Given the description of an element on the screen output the (x, y) to click on. 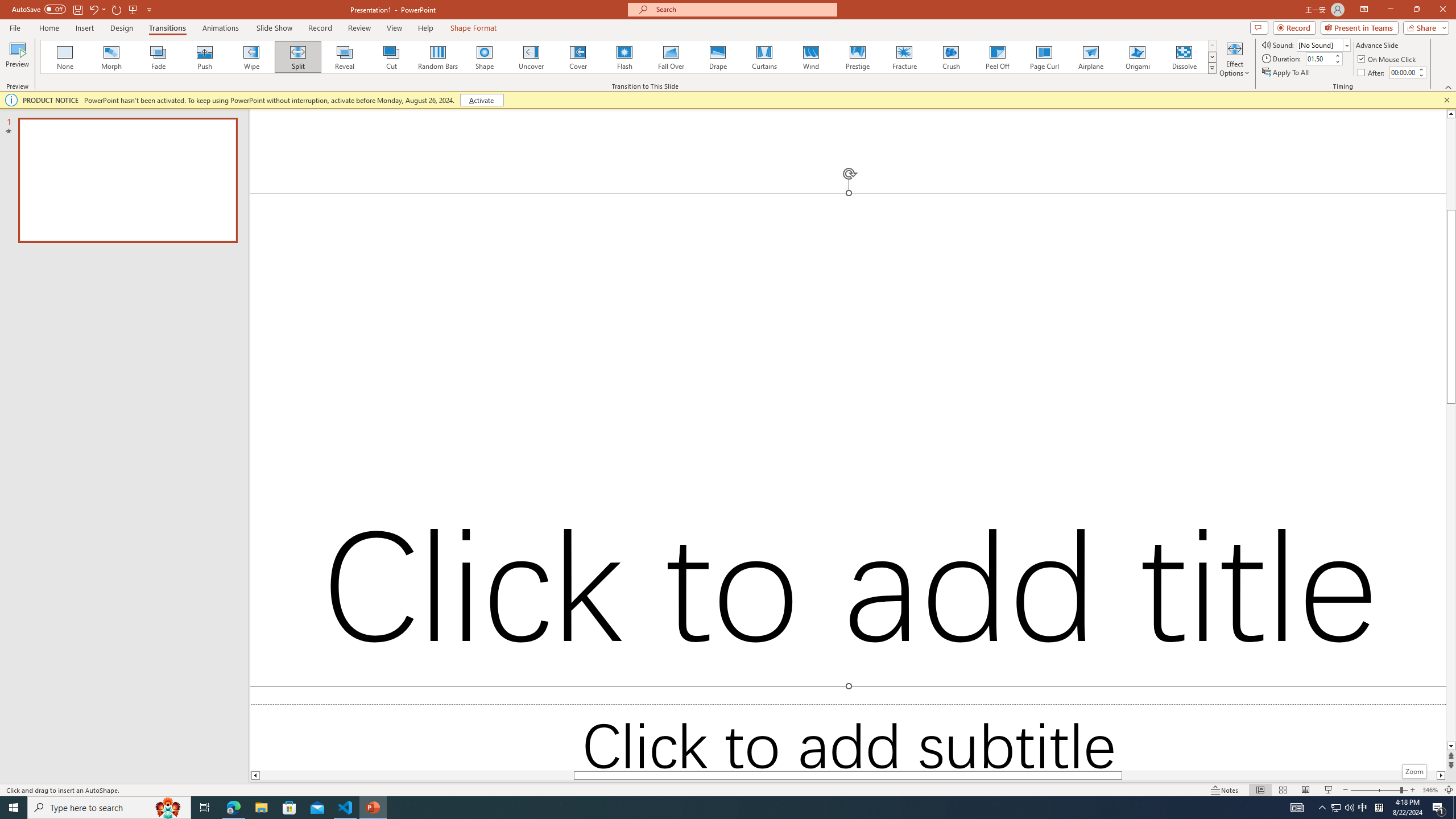
Shape (484, 56)
Fade (158, 56)
Split (298, 56)
Random Bars (437, 56)
Reveal (344, 56)
